Given the description of an element on the screen output the (x, y) to click on. 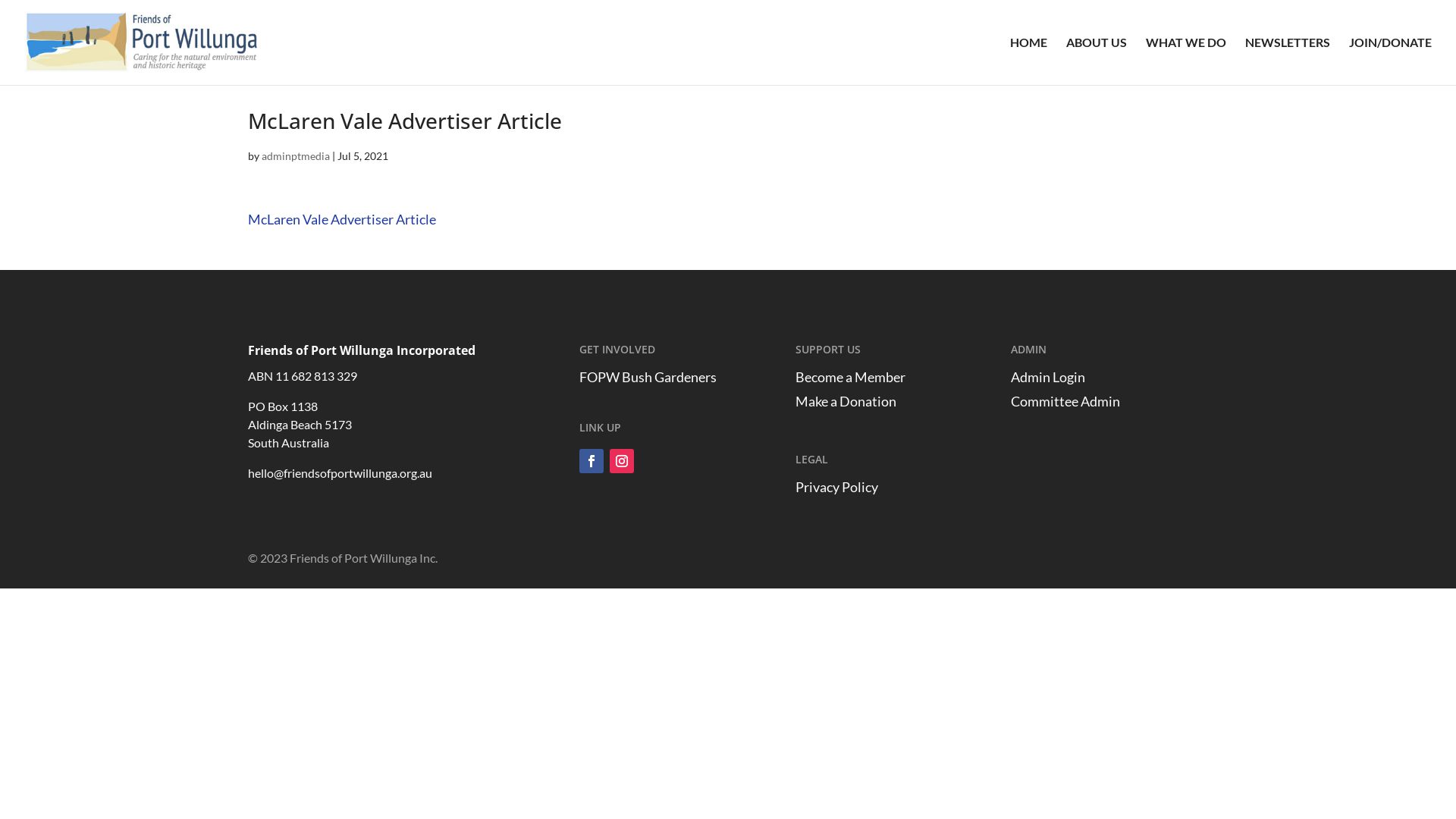
adminptmedia Element type: text (295, 155)
Follow on Facebook Element type: hover (591, 460)
Follow on Instagram Element type: hover (621, 460)
hello@friendsofportwillunga.org.au Element type: text (339, 472)
Make a Donation Element type: text (845, 400)
ABOUT US Element type: text (1096, 60)
Become a Member Element type: text (850, 376)
FOPW Bush Gardeners Element type: text (647, 376)
Committee Admin Element type: text (1065, 400)
Admin Login Element type: text (1047, 376)
JOIN/DONATE Element type: text (1390, 60)
McLaren Vale Advertiser Article Element type: text (341, 218)
WHAT WE DO Element type: text (1185, 60)
NEWSLETTERS Element type: text (1287, 60)
Privacy Policy Element type: text (836, 486)
HOME Element type: text (1028, 60)
